Given the description of an element on the screen output the (x, y) to click on. 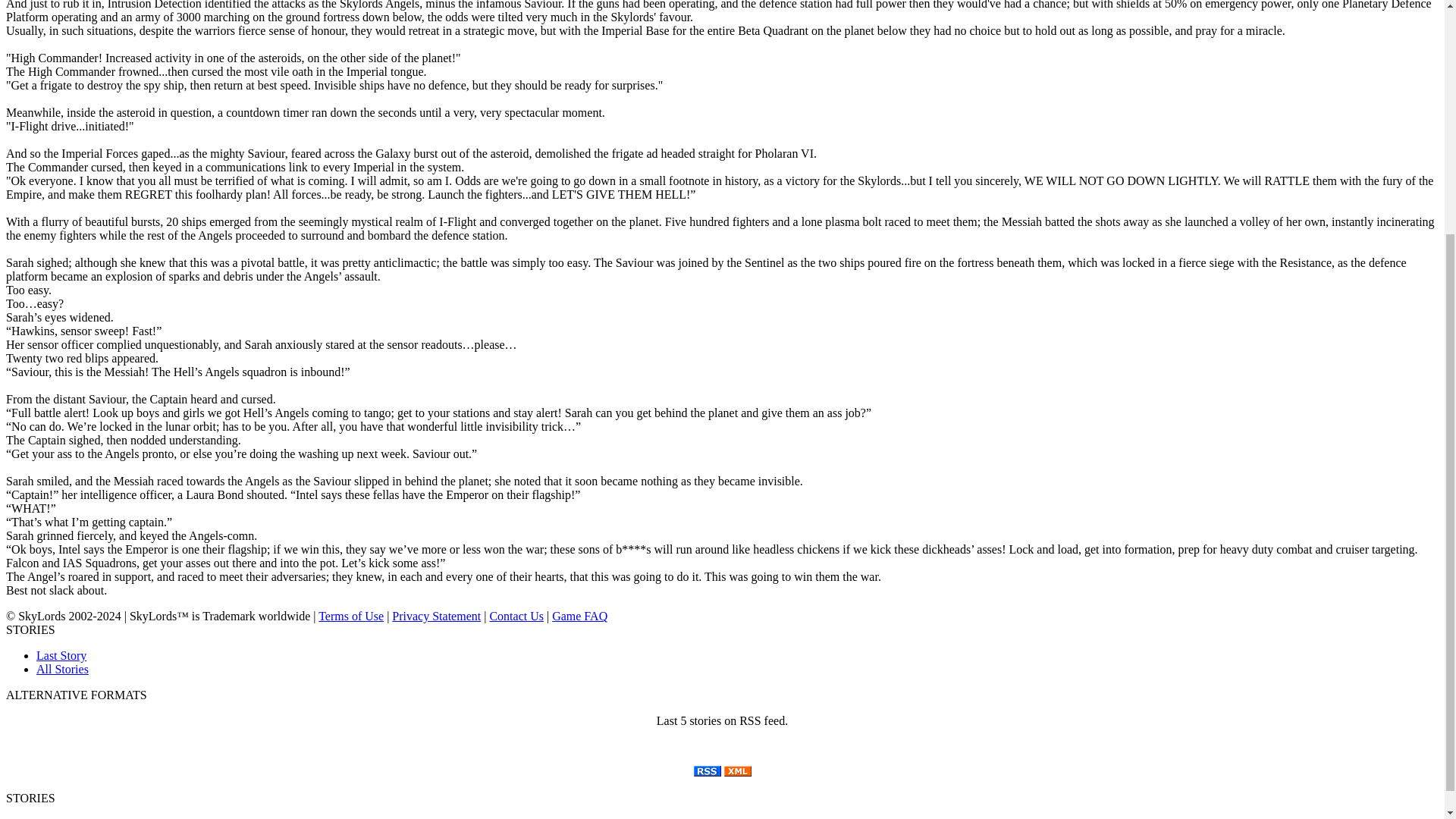
All Stories (62, 668)
Last Story (60, 655)
Terms of Use (351, 615)
Contact Us (516, 615)
Game FAQ (579, 615)
Privacy Statement (435, 615)
